Given the description of an element on the screen output the (x, y) to click on. 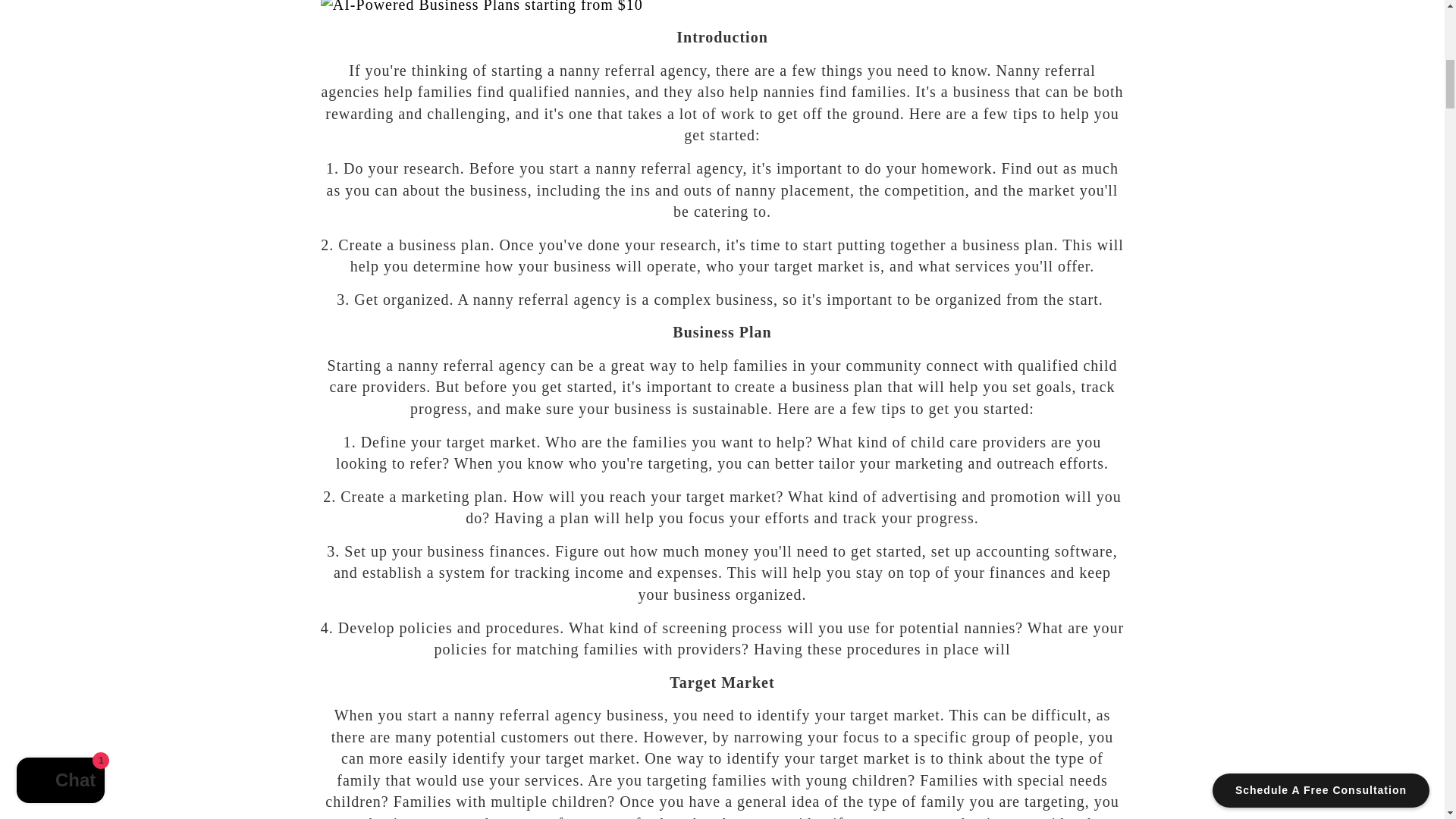
Get a Business Plan now (722, 7)
